Given the description of an element on the screen output the (x, y) to click on. 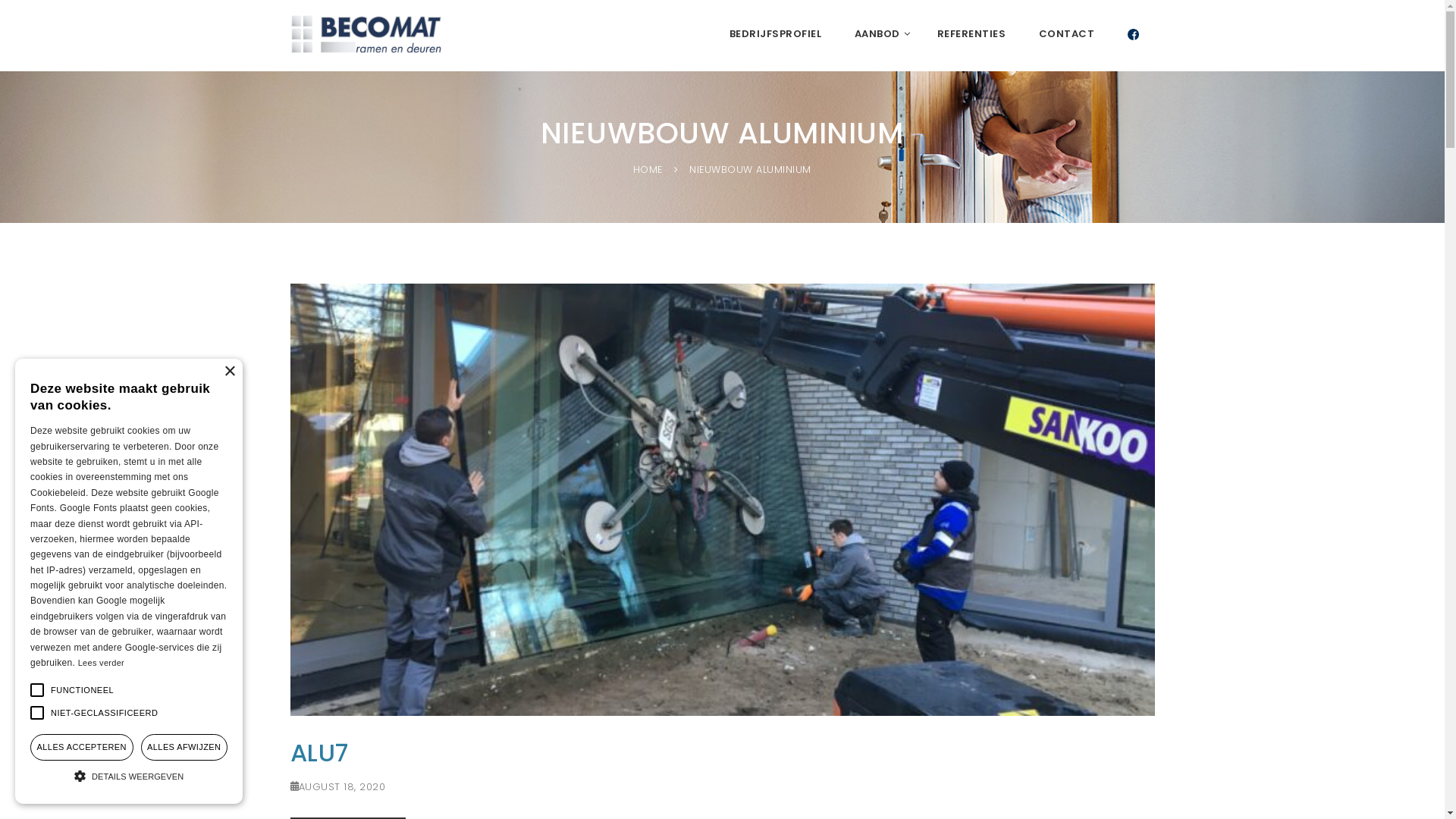
AANBOD Element type: text (879, 34)
FB Element type: text (1132, 37)
HOME Element type: text (647, 169)
ALU7 Element type: text (318, 752)
REFERENTIES Element type: text (971, 34)
SIUX3054 Element type: hover (721, 498)
BEDRIJFSPROFIEL Element type: text (775, 34)
AUGUST 18, 2020 Element type: text (341, 786)
Becomat Element type: text (365, 34)
CONTACT Element type: text (1066, 34)
Lees verder Element type: text (101, 662)
